Given the description of an element on the screen output the (x, y) to click on. 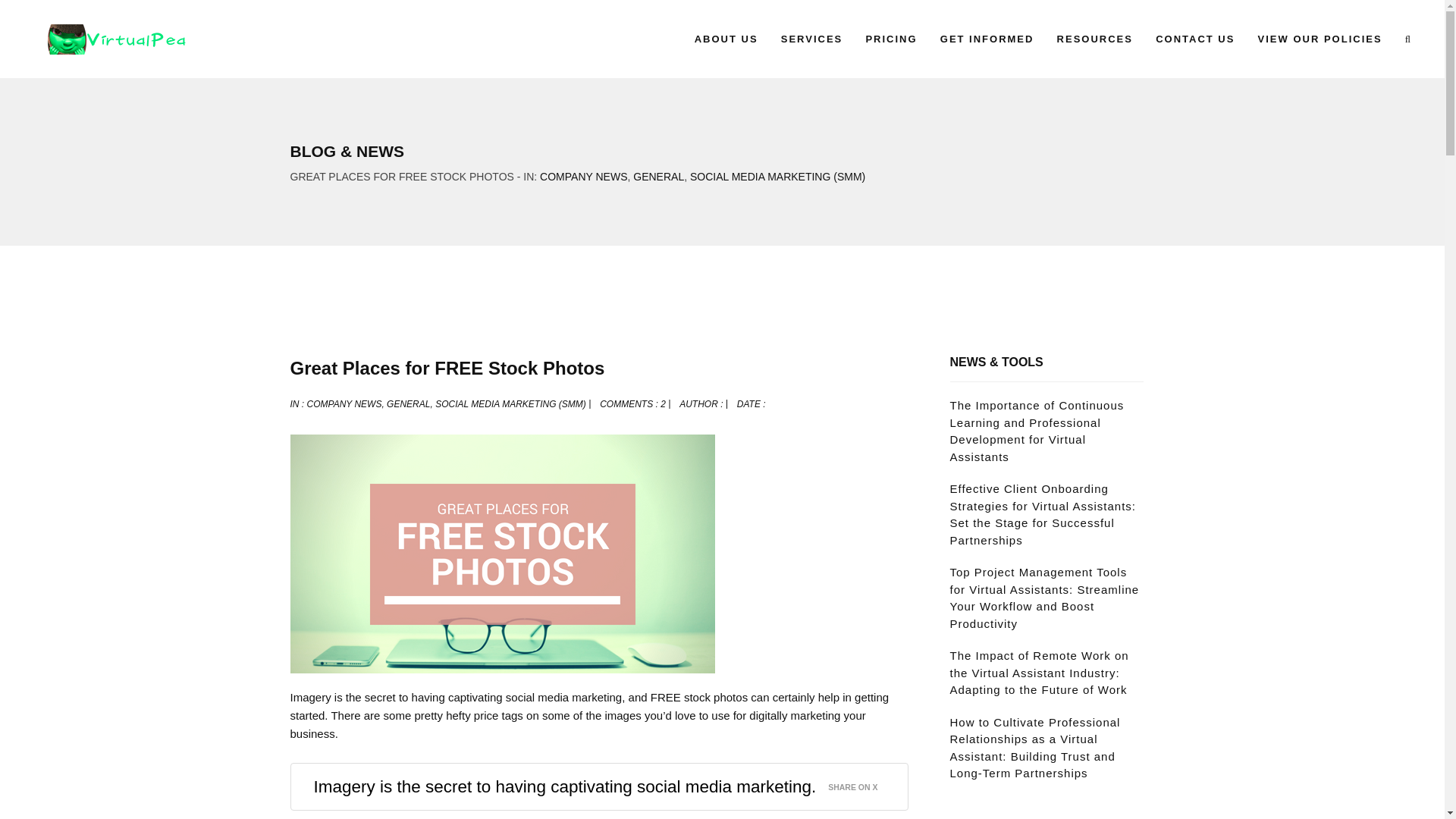
RESOURCES (1094, 38)
PMG: VirtualPea (104, 39)
Great Places for FREE Stock Photos (446, 367)
COMPANY NEWS (344, 403)
SERVICES (812, 38)
GENERAL (658, 176)
COMPANY NEWS (583, 176)
SHARE ON X (861, 782)
VIEW OUR POLICIES (1319, 38)
